Given the description of an element on the screen output the (x, y) to click on. 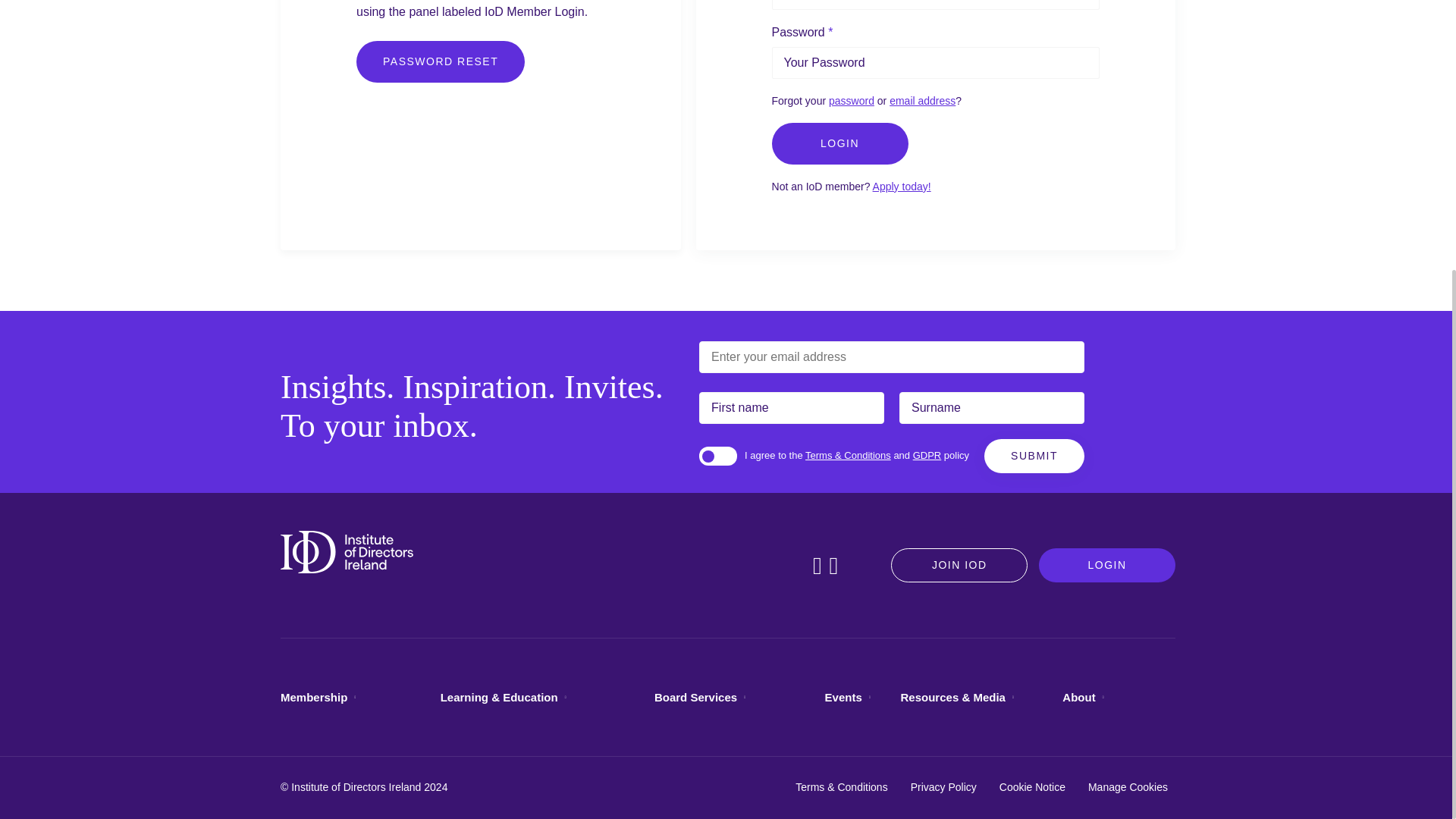
Institute of Directors Logo (347, 551)
